Given the description of an element on the screen output the (x, y) to click on. 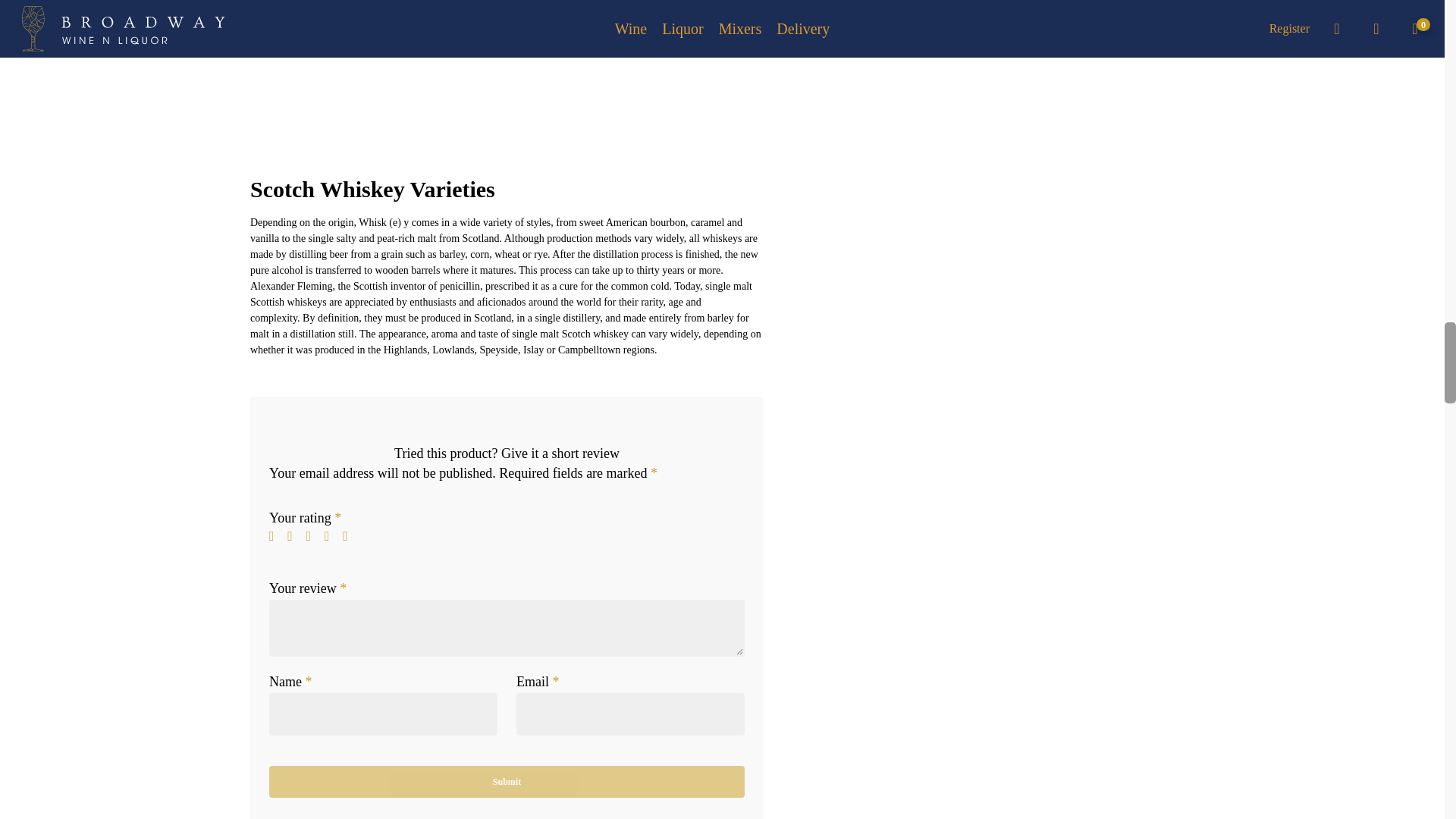
Submit (506, 781)
